Given the description of an element on the screen output the (x, y) to click on. 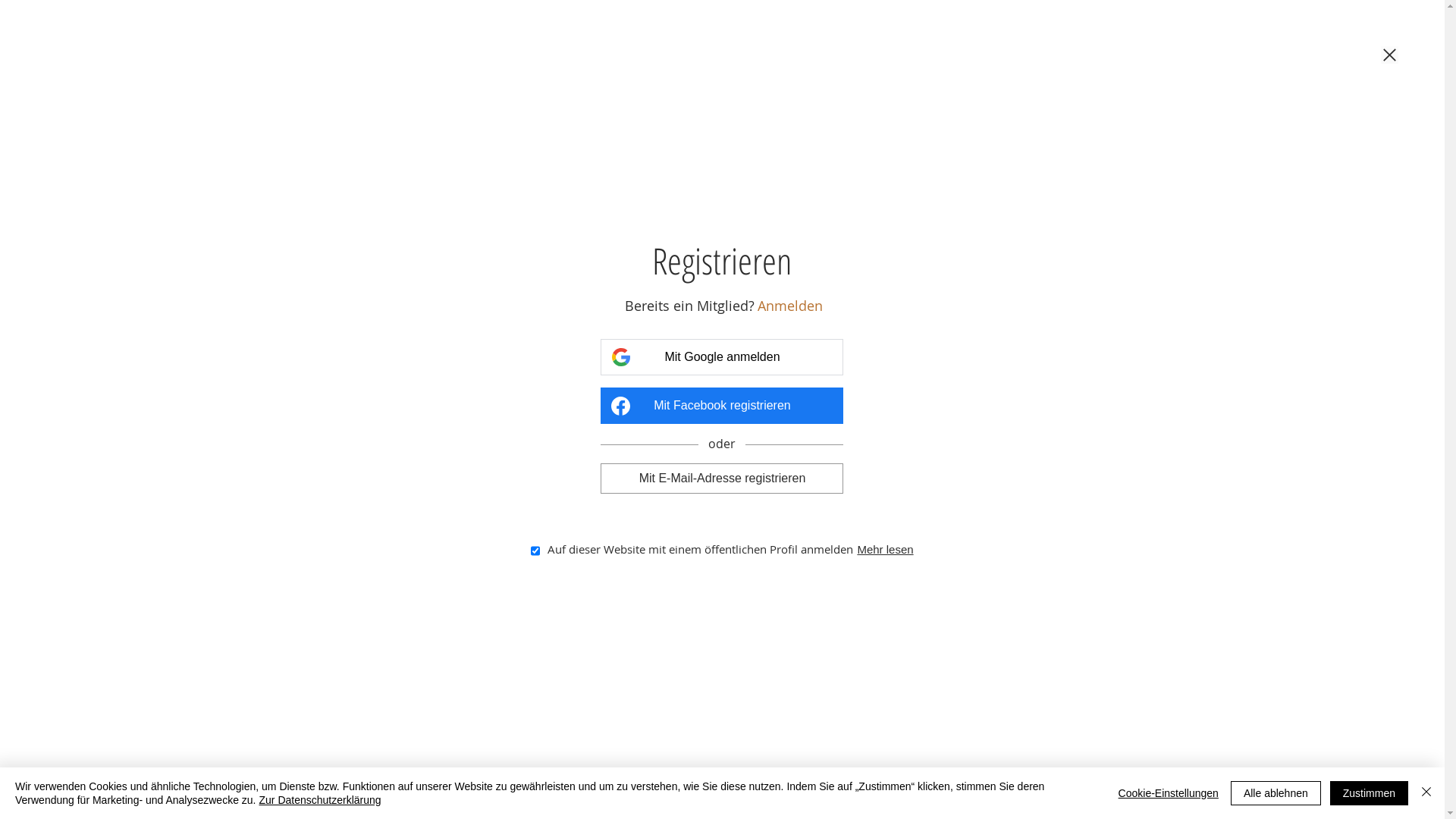
Mehr lesen Element type: text (884, 548)
Anmelden Element type: text (789, 305)
Mit Google anmelden Element type: text (721, 356)
Mit Facebook registrieren Element type: text (721, 405)
Mit E-Mail-Adresse registrieren Element type: text (721, 478)
Zustimmen Element type: text (1369, 793)
Alle ablehnen Element type: text (1275, 793)
